Given the description of an element on the screen output the (x, y) to click on. 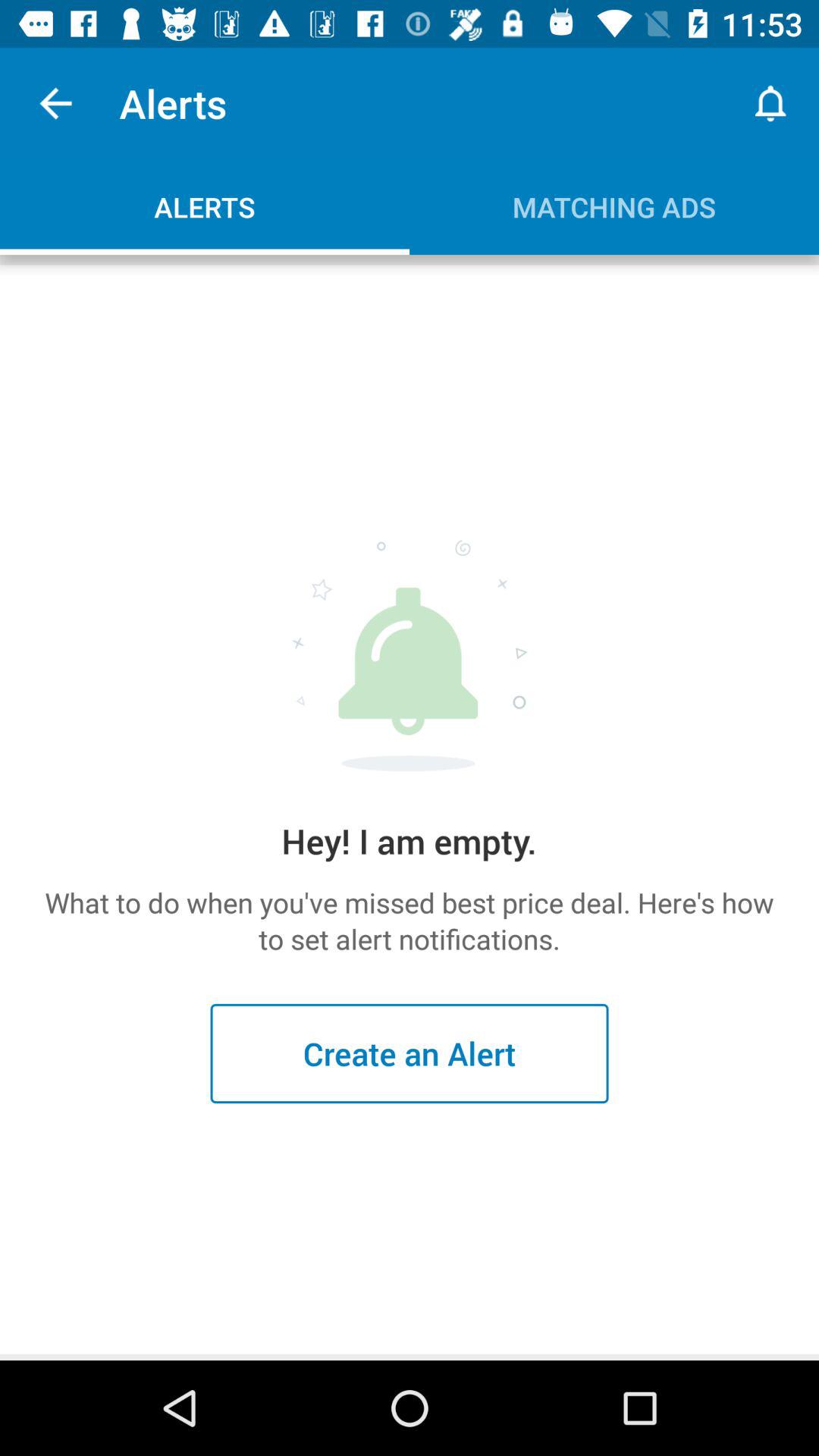
turn on the item above alerts item (55, 103)
